Given the description of an element on the screen output the (x, y) to click on. 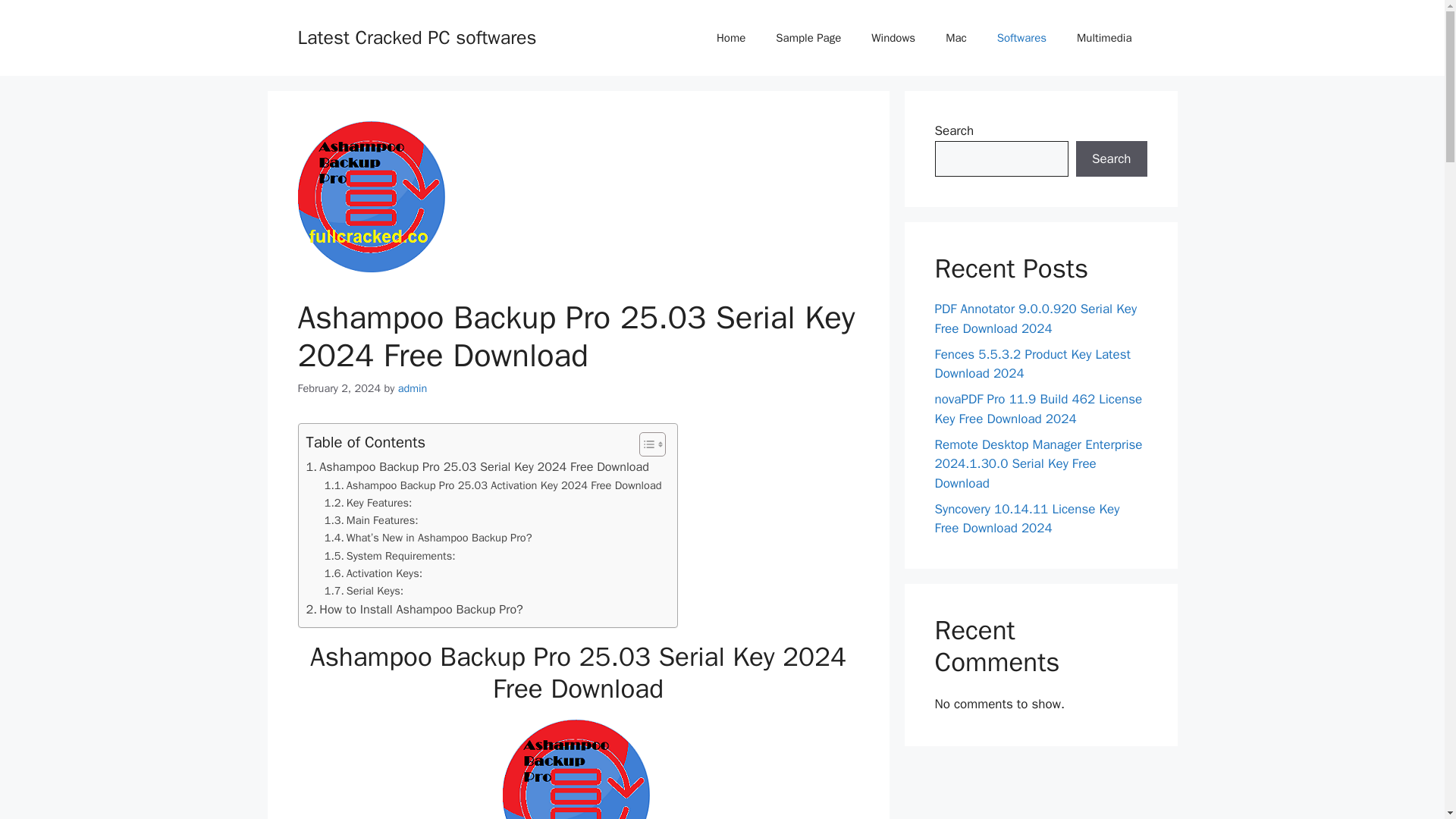
Softwares (1021, 37)
Windows (893, 37)
Activation Keys: (373, 573)
Serial Keys: (363, 590)
Home (730, 37)
Ashampoo Backup Pro 25.03 Serial Key 2024 Free Download (477, 466)
Latest Cracked PC softwares (416, 37)
How to Install Ashampoo Backup Pro? (413, 609)
How to Install Ashampoo Backup Pro? (413, 609)
Key Features: (368, 502)
Ashampoo Backup Pro 25.03 Activation Key 2024 Free Download (493, 485)
Ashampoo Backup Pro 25.03 Serial Key 2024 Free Download (577, 769)
Ashampoo Backup Pro 25.03 Activation Key 2024 Free Download (493, 485)
Serial Keys: (363, 590)
System Requirements: (389, 556)
